Given the description of an element on the screen output the (x, y) to click on. 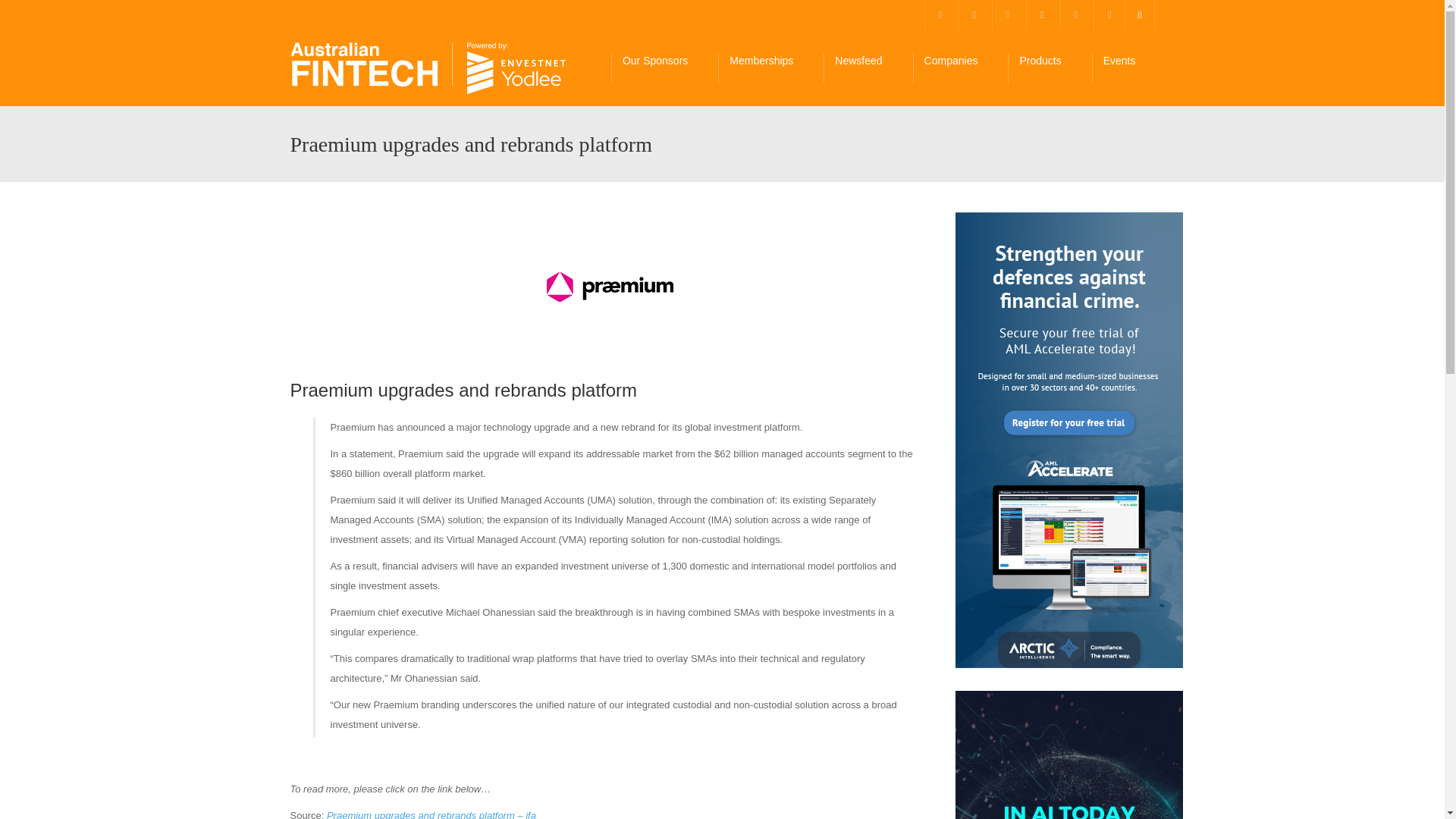
Our Sponsors (664, 68)
Praemium upgrades and rebrands platform (611, 287)
Memberships (770, 68)
Newsfeed (868, 68)
Events (1129, 68)
Praemium upgrades and rebrands platform (428, 67)
Companies (960, 68)
Products (1048, 68)
